Given the description of an element on the screen output the (x, y) to click on. 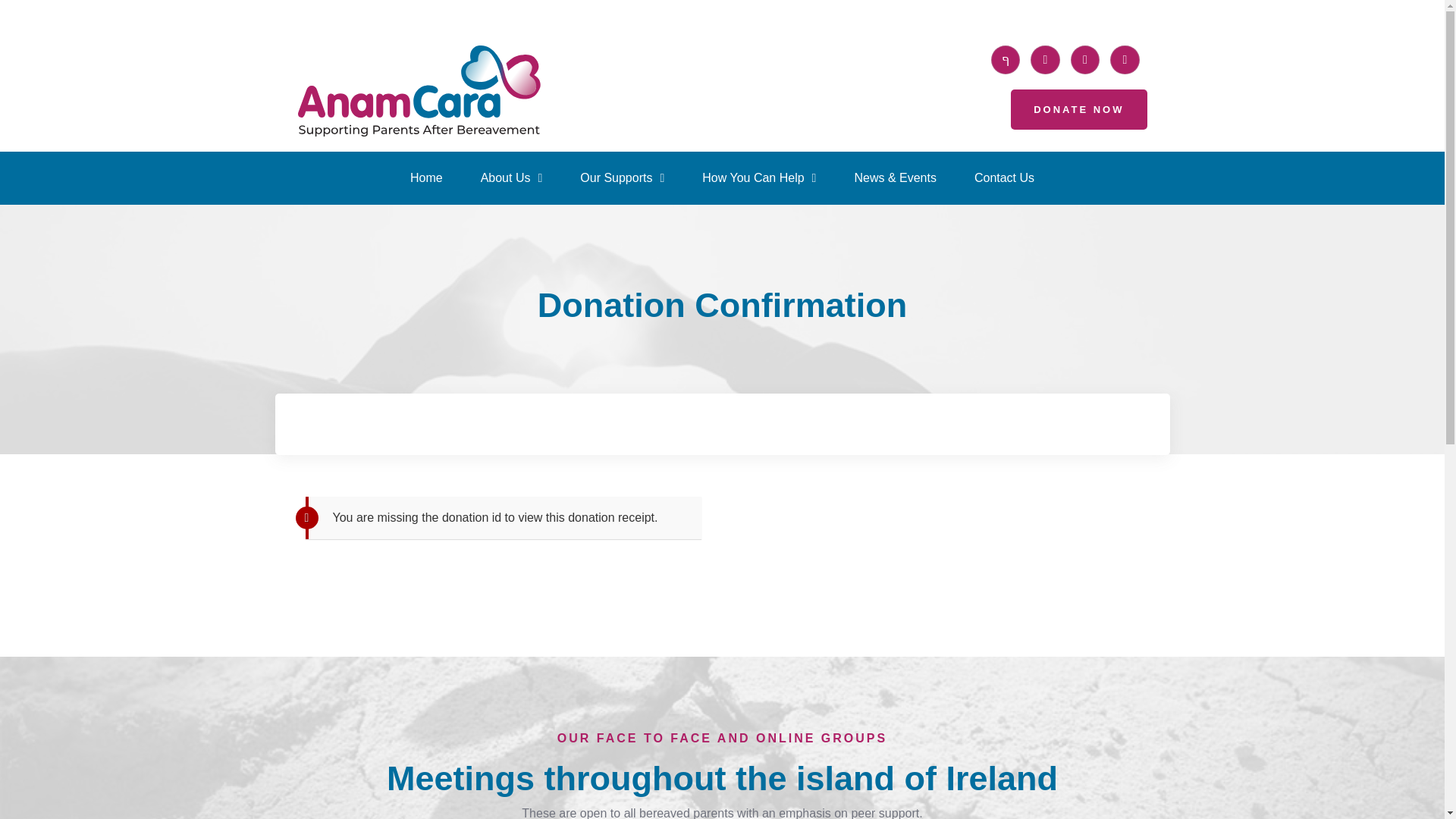
About Us (511, 177)
Home (426, 177)
DONATE NOW (1078, 109)
Our Supports (621, 177)
